Given the description of an element on the screen output the (x, y) to click on. 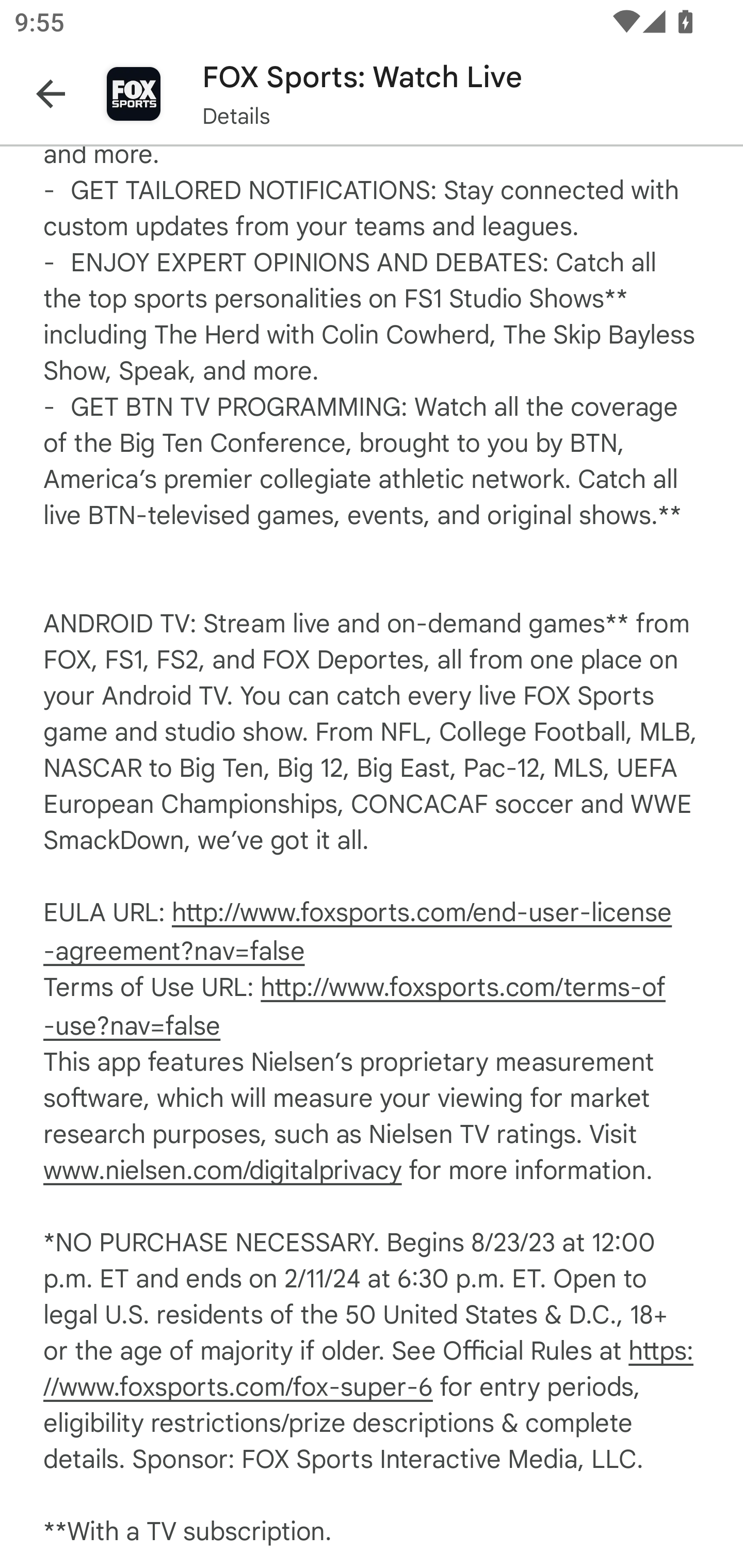
Navigate up (50, 93)
